Given the description of an element on the screen output the (x, y) to click on. 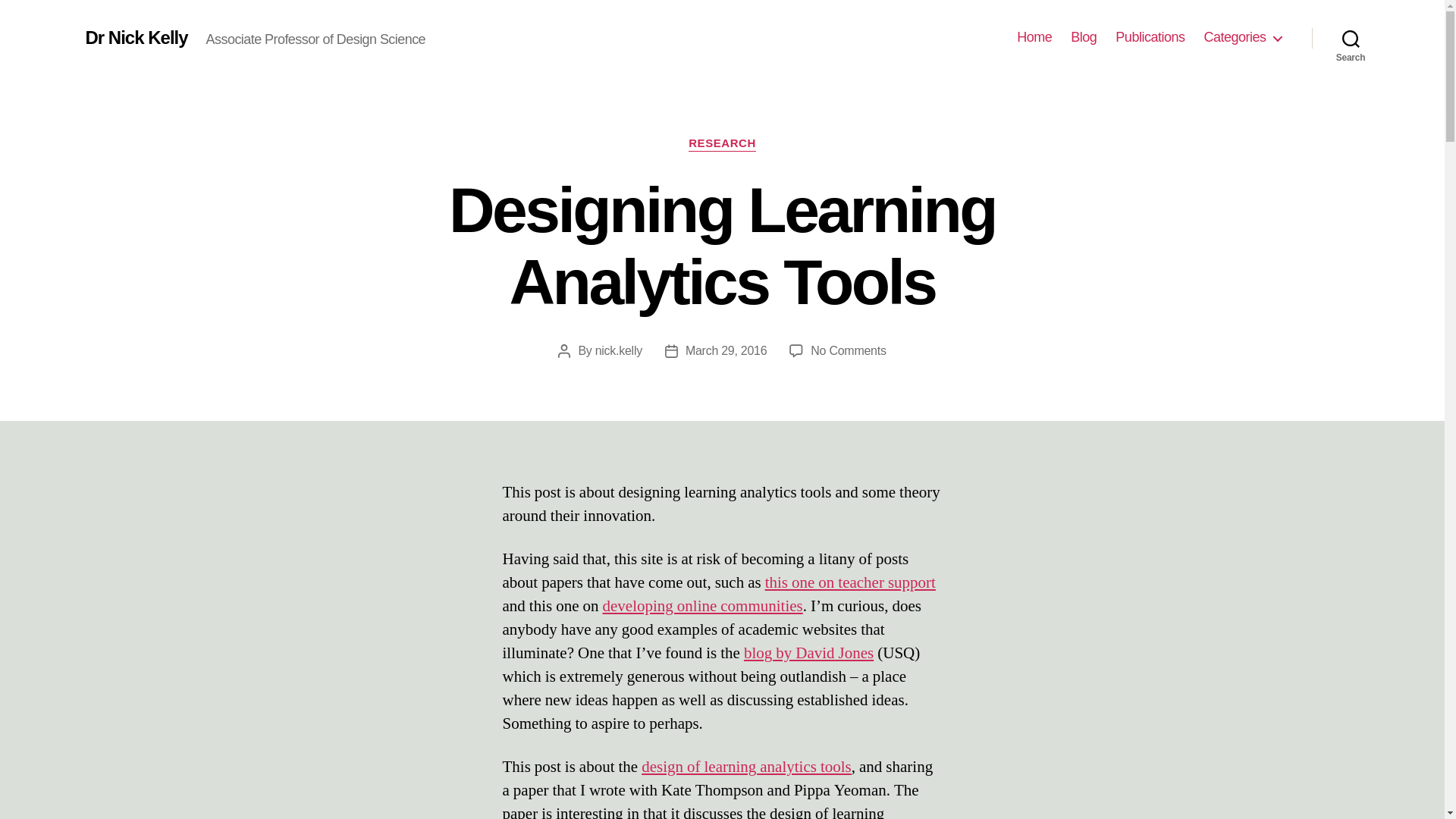
this one on teacher support (850, 582)
nick.kelly (618, 350)
RESEARCH (721, 143)
Home (1033, 37)
Categories (1242, 37)
developing online communities (702, 606)
March 29, 2016 (726, 350)
blog by David Jones (808, 652)
Blog (1083, 37)
Publications (1150, 37)
